Given the description of an element on the screen output the (x, y) to click on. 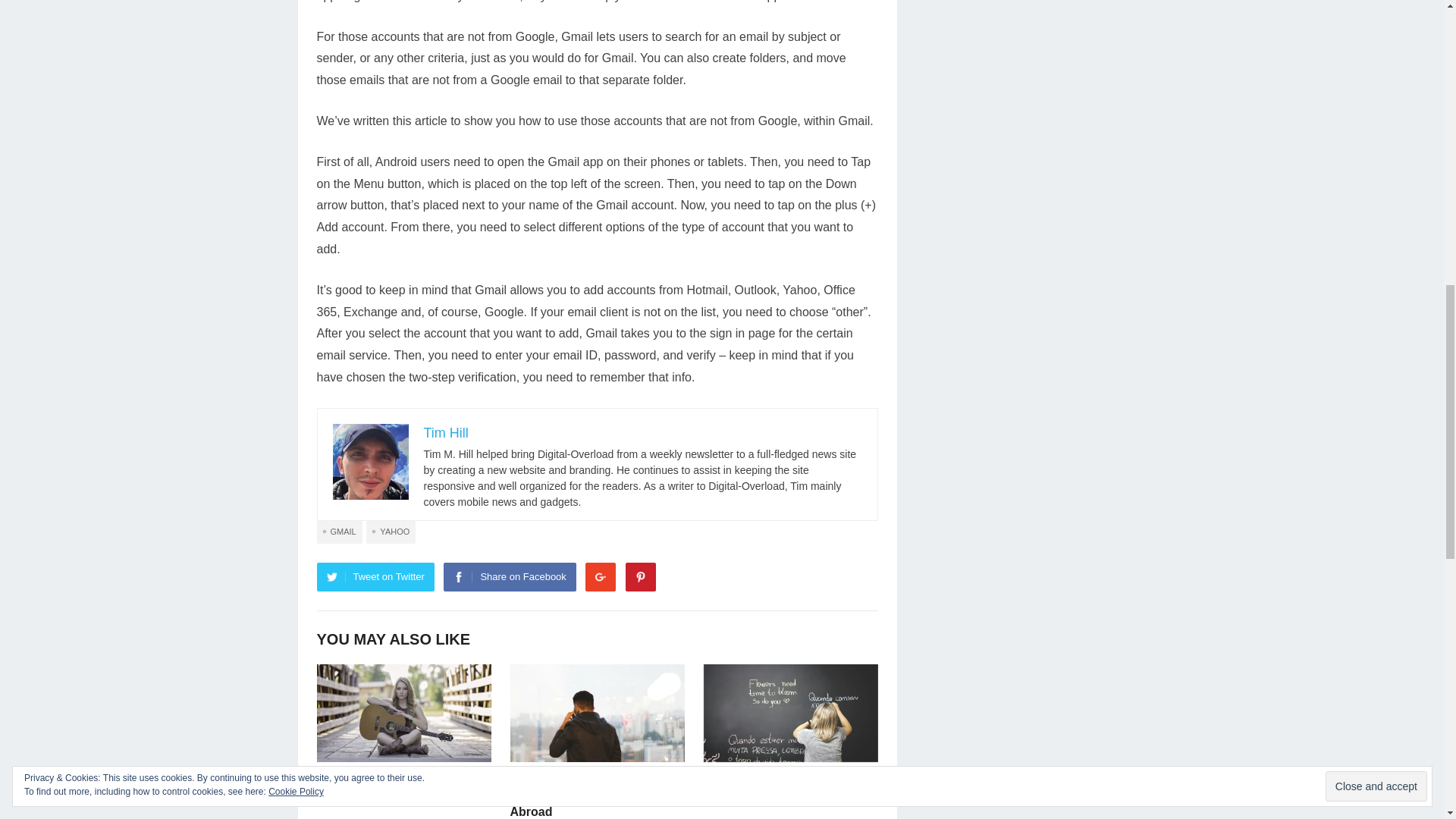
Tim Hill (445, 432)
Top Music Players for PC Users (390, 787)
Tweet on Twitter (375, 576)
Share on Facebook (509, 576)
Top Apps That Will Improve Your Pronunciation Skills (783, 787)
GMAIL (339, 531)
Pinterest (641, 576)
YAHOO (390, 531)
